Given the description of an element on the screen output the (x, y) to click on. 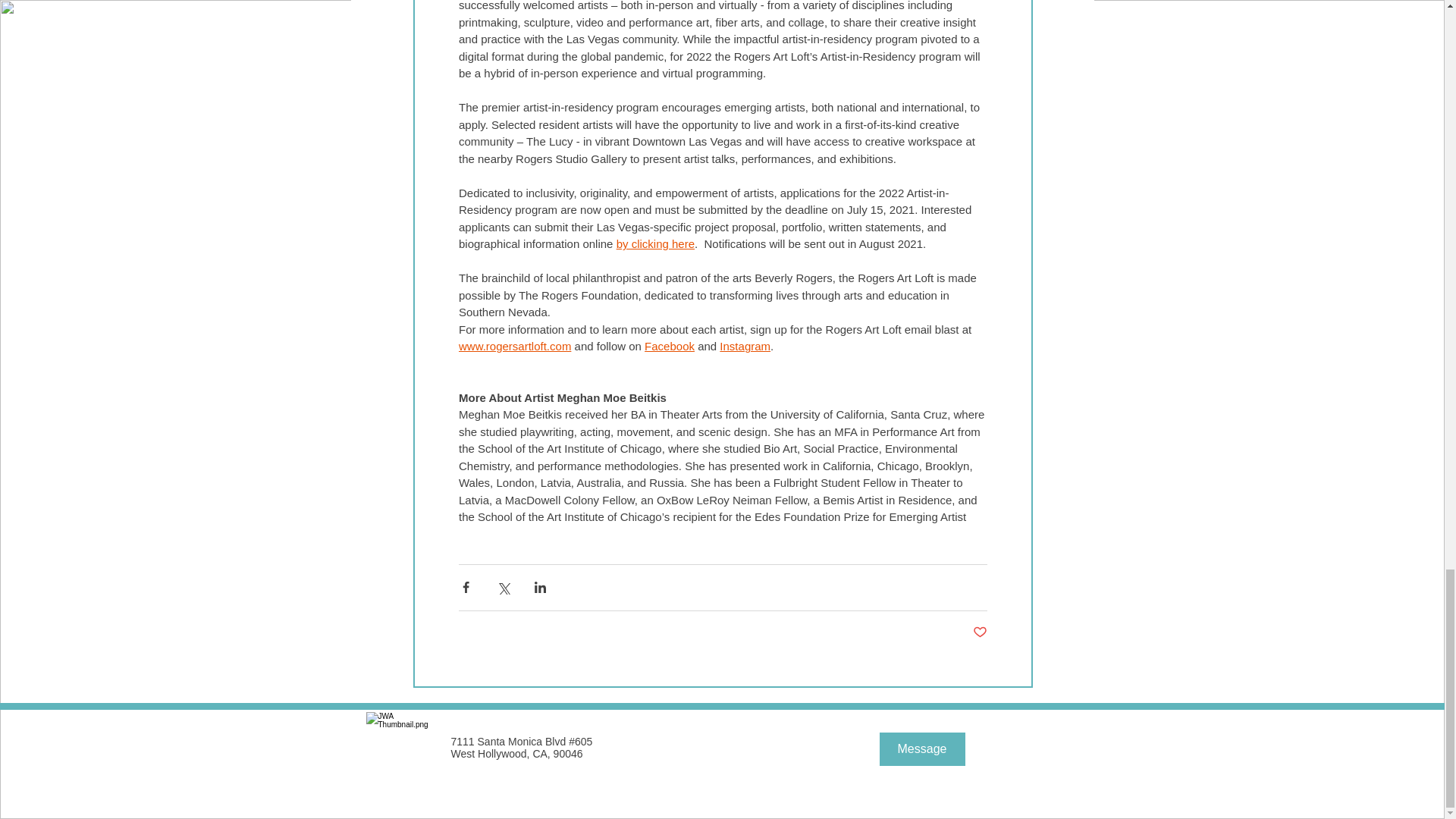
Facebook (669, 345)
by clicking here (654, 243)
Post not marked as liked (979, 632)
www.rogersartloft.com (514, 345)
Message (922, 748)
Instagram (744, 345)
